Given the description of an element on the screen output the (x, y) to click on. 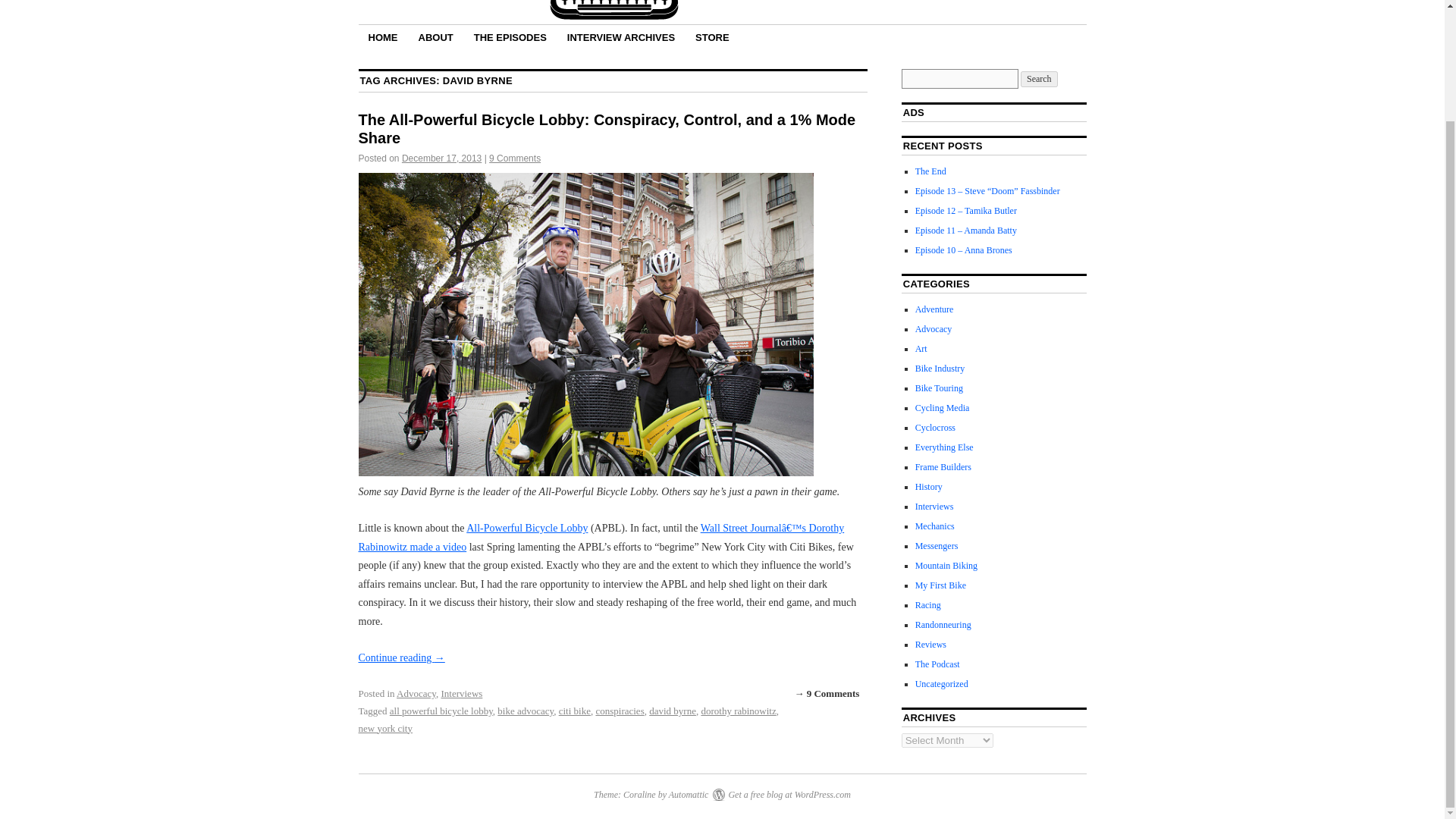
9 Comments (514, 158)
bike advocacy (525, 710)
HOME (382, 36)
Adventure (934, 308)
INTERVIEW ARCHIVES (620, 36)
Everything Else (944, 447)
ABOUT (435, 36)
Cyclocross (935, 427)
All-Powerful Bicycle Lobby (526, 527)
8:18 am (441, 158)
